Given the description of an element on the screen output the (x, y) to click on. 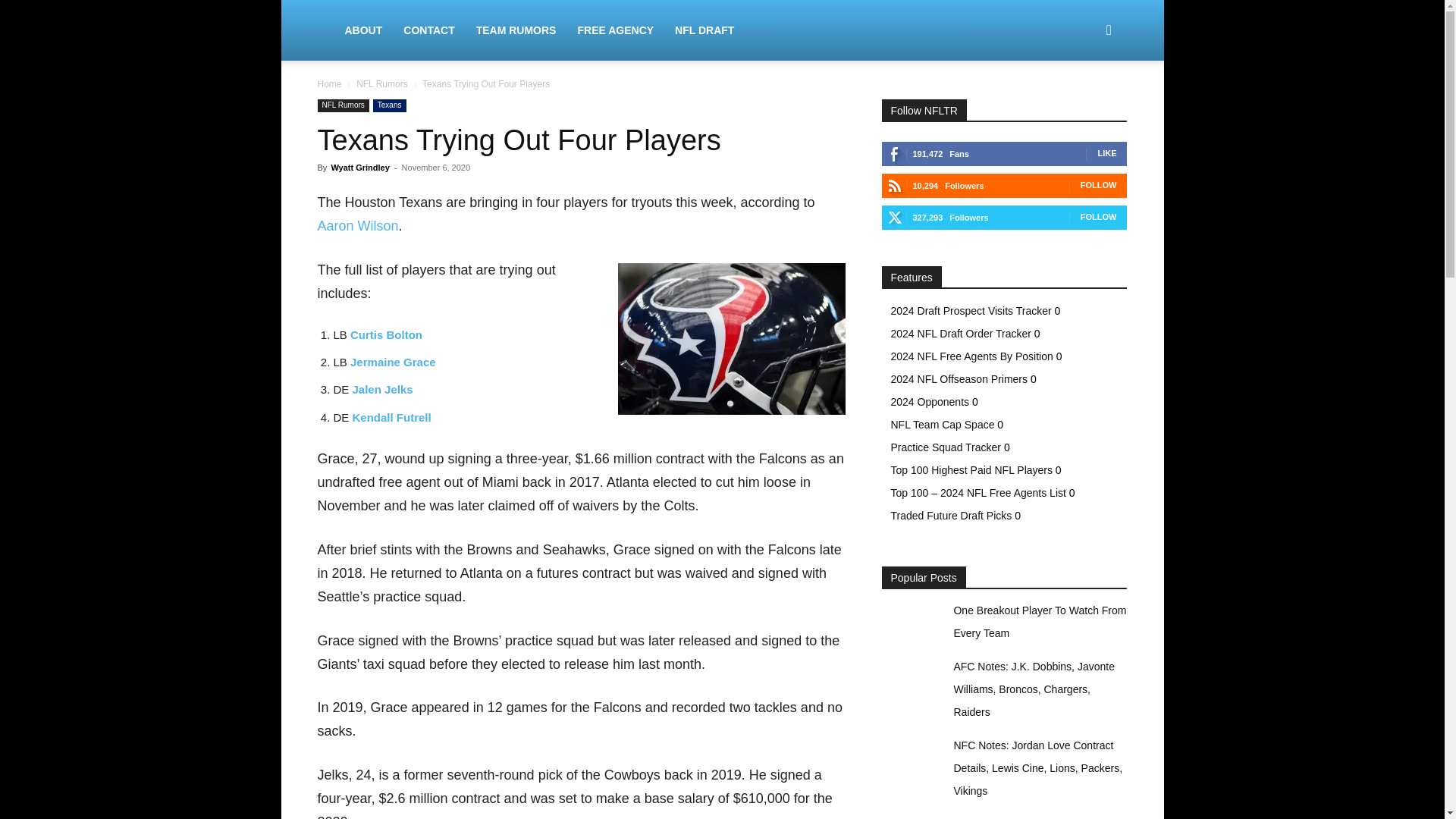
View all posts in NFL Rumors (381, 83)
